Given the description of an element on the screen output the (x, y) to click on. 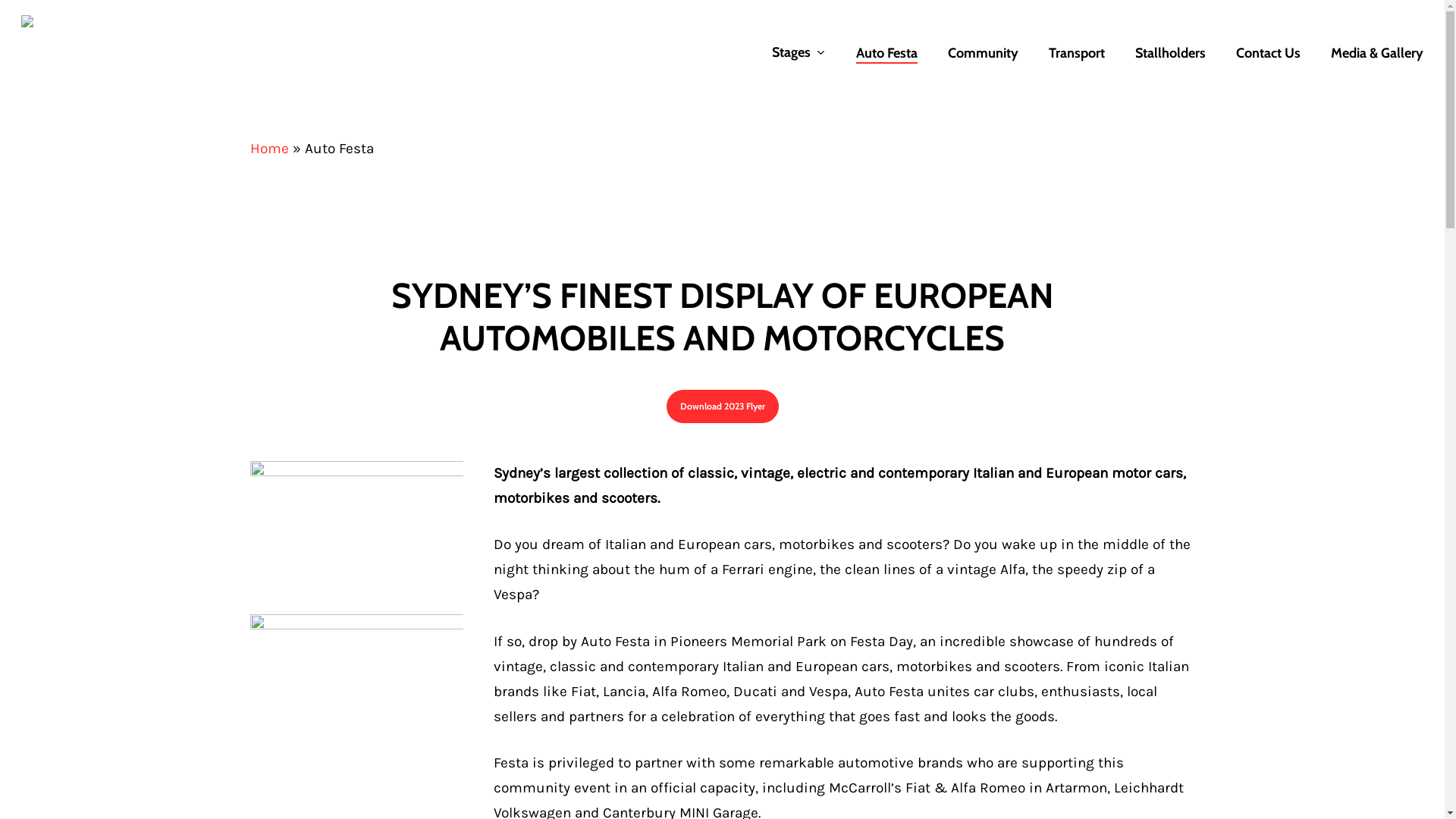
Community Element type: text (982, 53)
Media & Gallery Element type: text (1376, 53)
Download 2023 Flyer Element type: text (721, 406)
Home Element type: text (269, 148)
Transport Element type: text (1076, 53)
Stallholders Element type: text (1170, 53)
Contact Us Element type: text (1268, 53)
Auto Festa Element type: text (886, 53)
Stages Element type: text (798, 52)
